Given the description of an element on the screen output the (x, y) to click on. 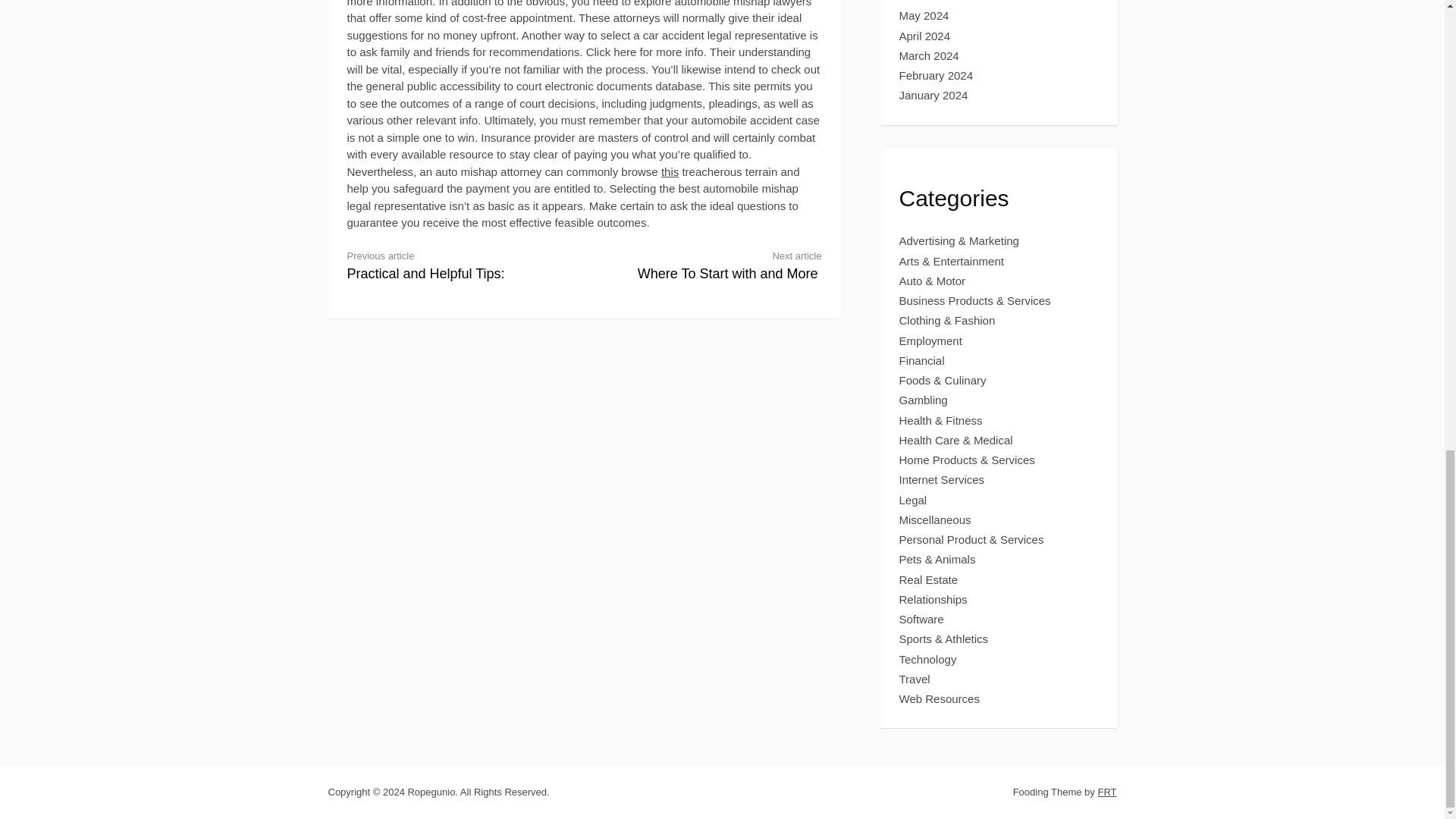
March 2024 (929, 55)
Employment (930, 340)
January 2024 (933, 94)
May 2024 (715, 264)
Financial (924, 15)
Gambling (921, 359)
April 2024 (923, 399)
February 2024 (924, 35)
